Given the description of an element on the screen output the (x, y) to click on. 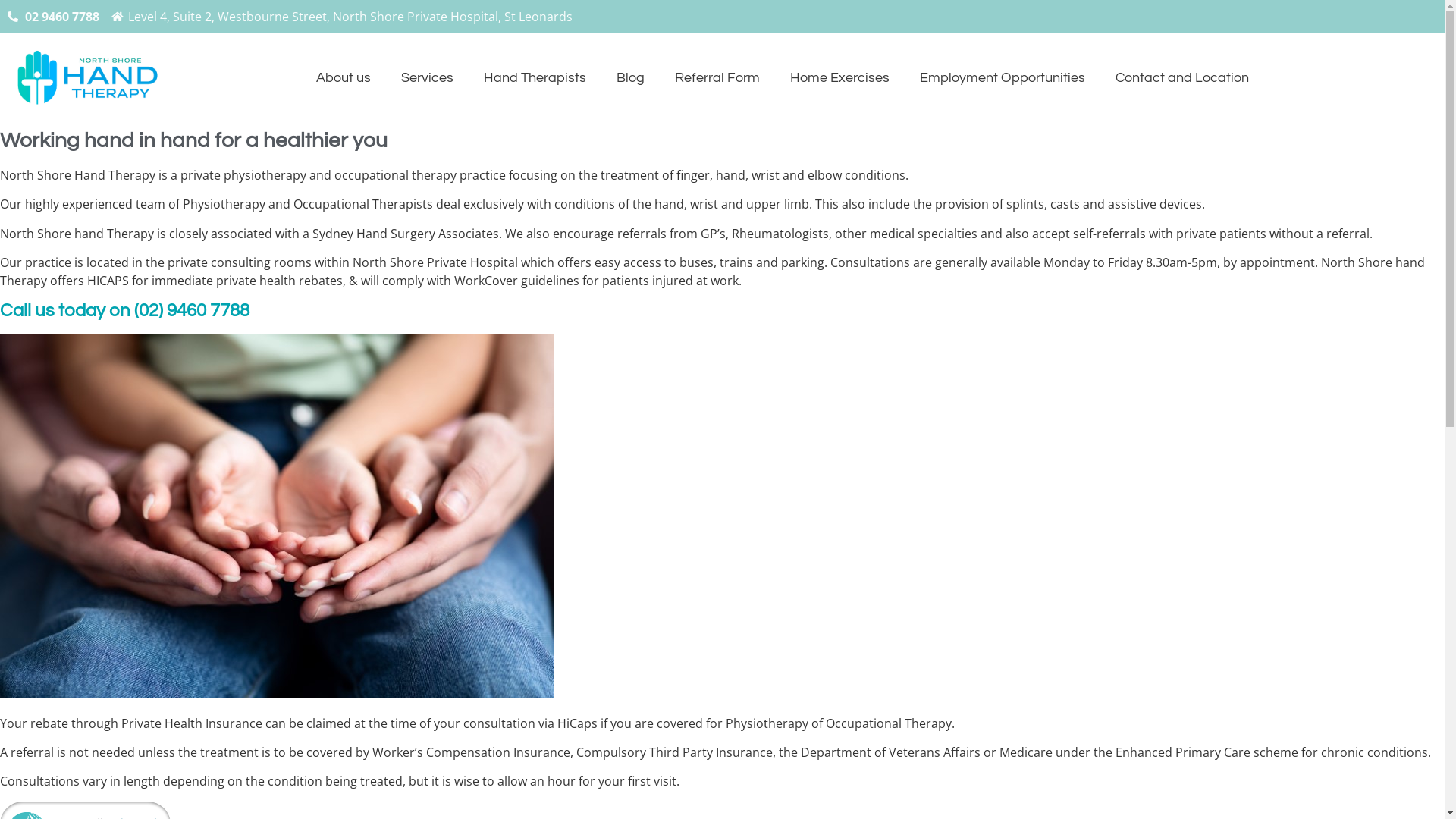
Employment Opportunities Element type: text (1002, 77)
02 9460 7788 Element type: text (53, 16)
Referral Form Element type: text (717, 77)
Contact and Location Element type: text (1182, 77)
Hand Therapists Element type: text (534, 77)
About us Element type: text (343, 77)
Home Exercises Element type: text (839, 77)
Blog Element type: text (630, 77)
Services Element type: text (426, 77)
Call us today on (02) 9460 7788 Element type: text (124, 310)
